Given the description of an element on the screen output the (x, y) to click on. 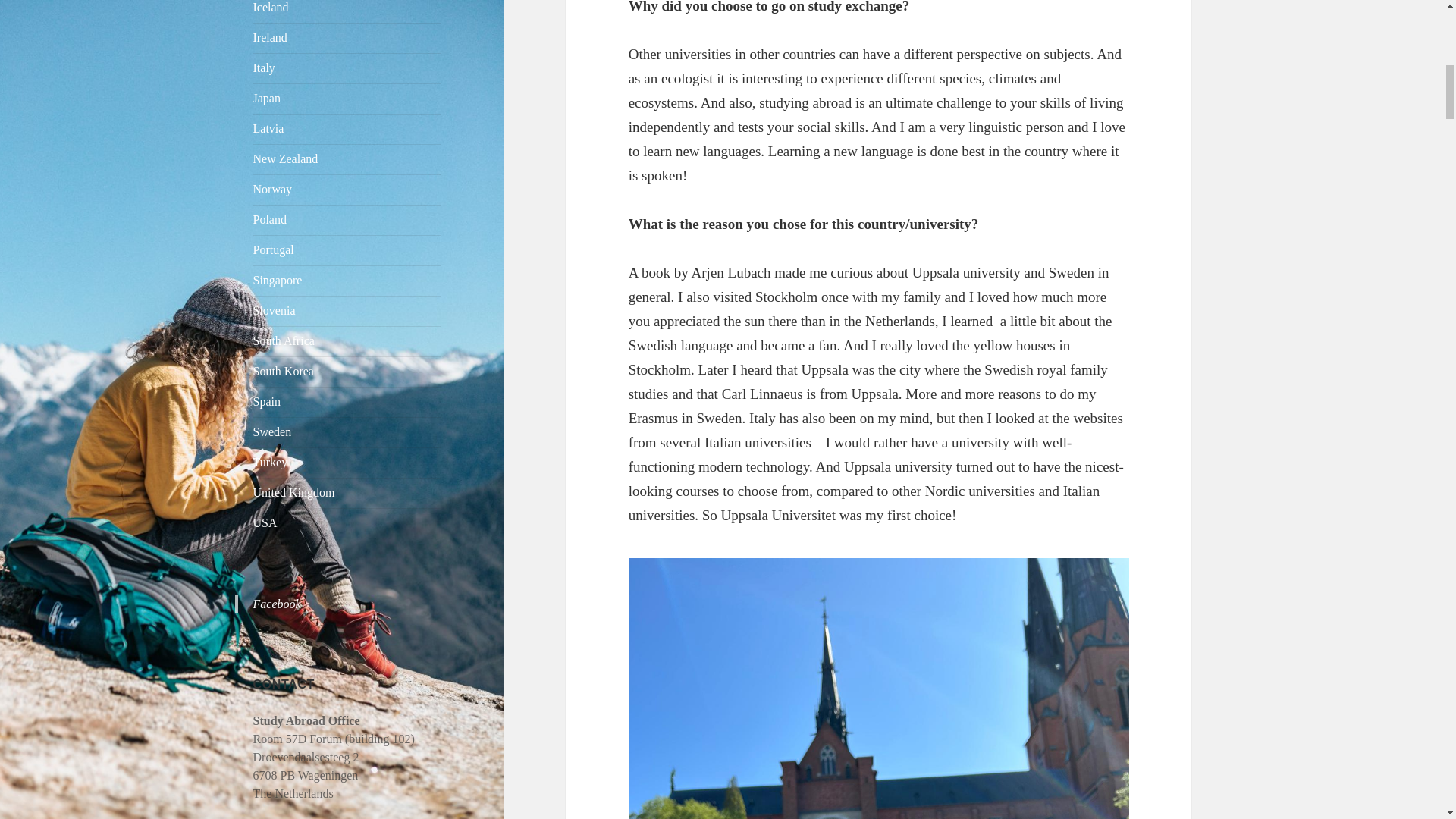
Portugal (273, 249)
Sweden (272, 431)
Japan (267, 97)
Spain (267, 400)
Facebook (277, 603)
New Zealand (285, 158)
Iceland (270, 6)
South Africa (283, 340)
Italy (264, 67)
Ireland (269, 37)
